Given the description of an element on the screen output the (x, y) to click on. 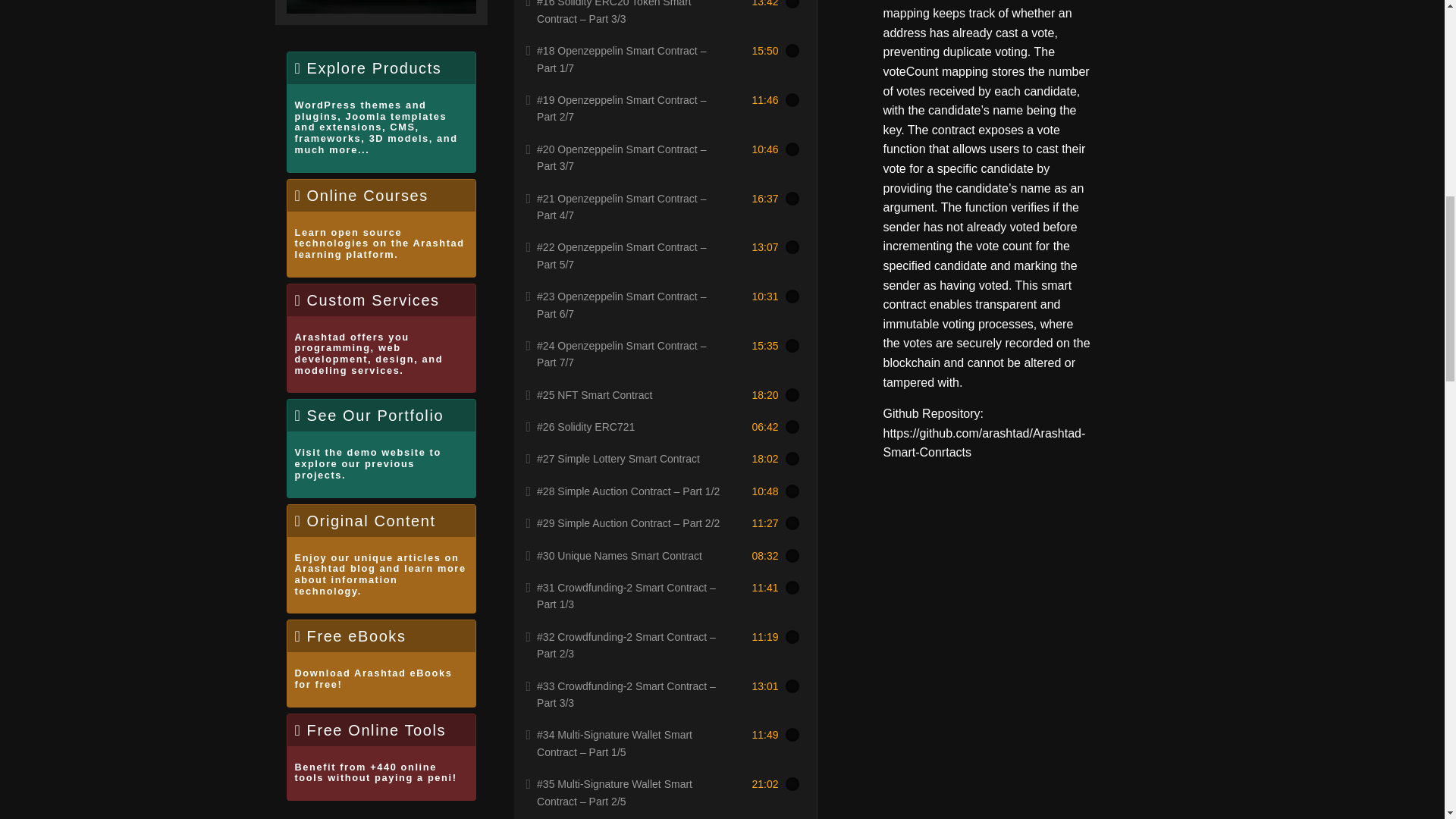
on (791, 4)
on (381, 662)
